Given the description of an element on the screen output the (x, y) to click on. 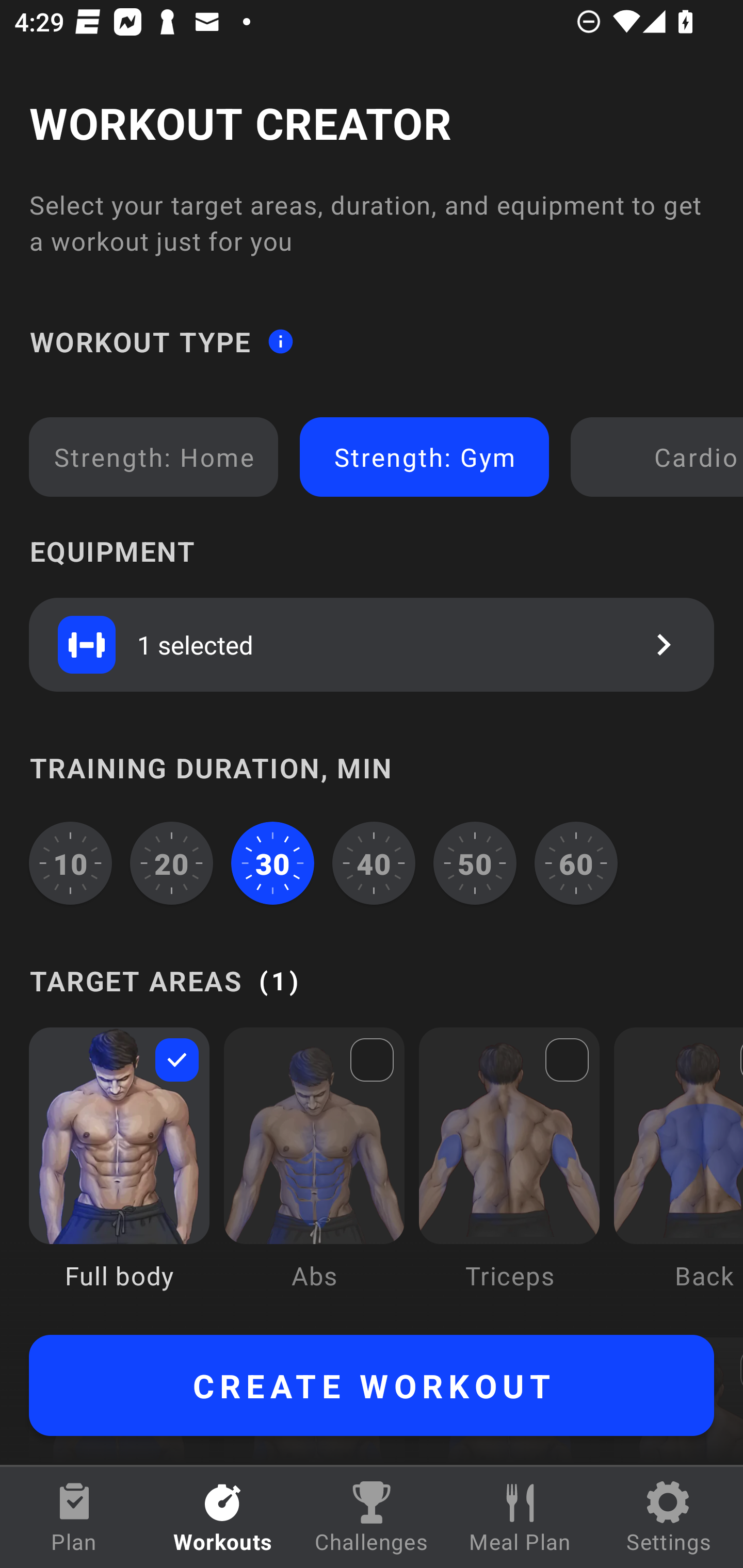
Workout type information button (280, 340)
Strength: Home (153, 457)
Cardio (660, 457)
1 selected (371, 644)
10 (70, 863)
20 (171, 863)
30 (272, 863)
40 (373, 863)
50 (474, 863)
60 (575, 863)
Abs (313, 1172)
Triceps (509, 1172)
Back (678, 1172)
CREATE WORKOUT (371, 1385)
 Plan  (74, 1517)
 Challenges  (371, 1517)
 Meal Plan  (519, 1517)
 Settings  (668, 1517)
